Given the description of an element on the screen output the (x, y) to click on. 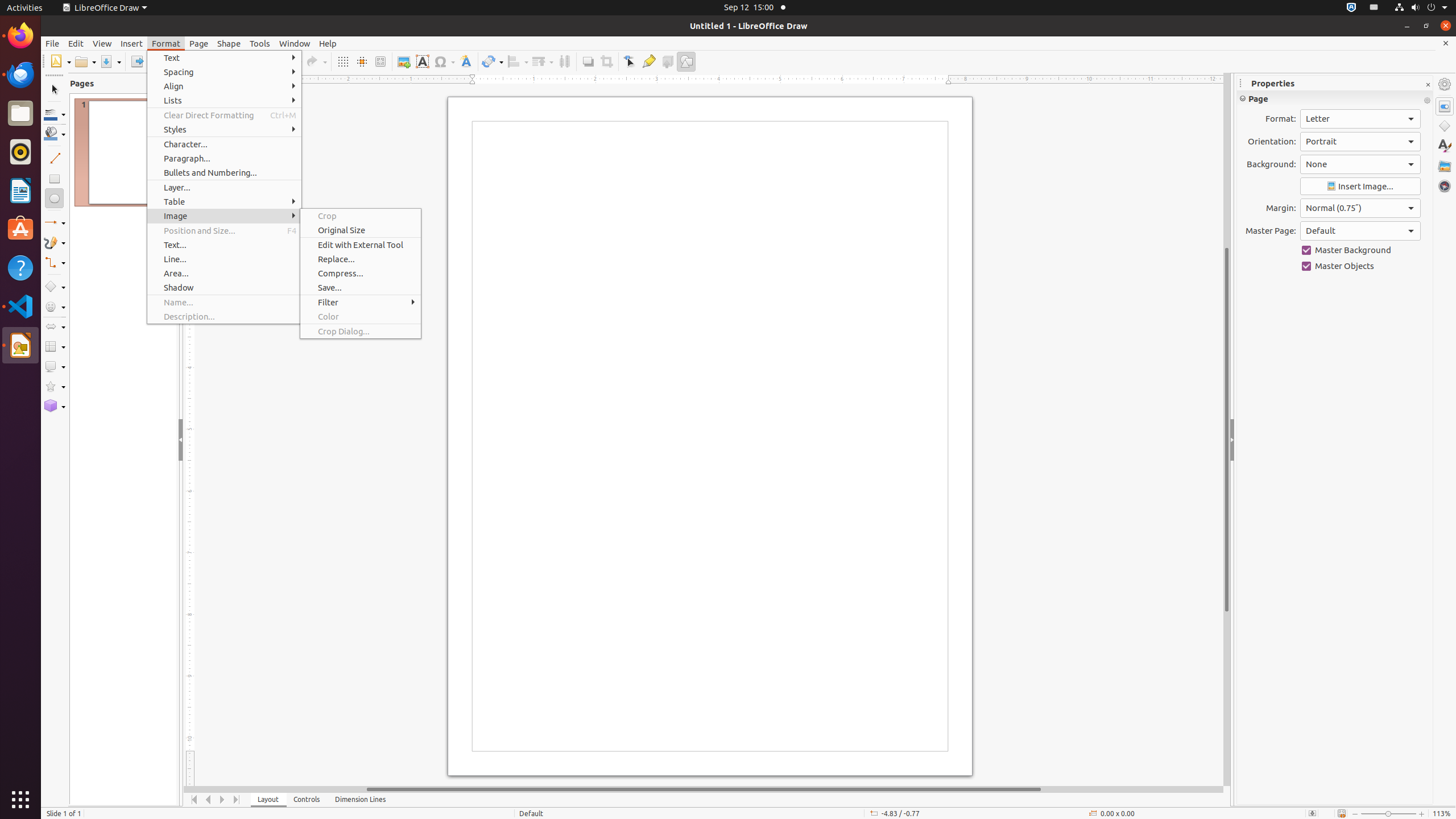
Fontwork Style Element type: toggle-button (465, 61)
Bullets and Numbering... Element type: menu-item (224, 172)
Show Applications Element type: toggle-button (20, 799)
Helplines While Moving Element type: toggle-button (361, 61)
Move Right Element type: push-button (222, 799)
